Given the description of an element on the screen output the (x, y) to click on. 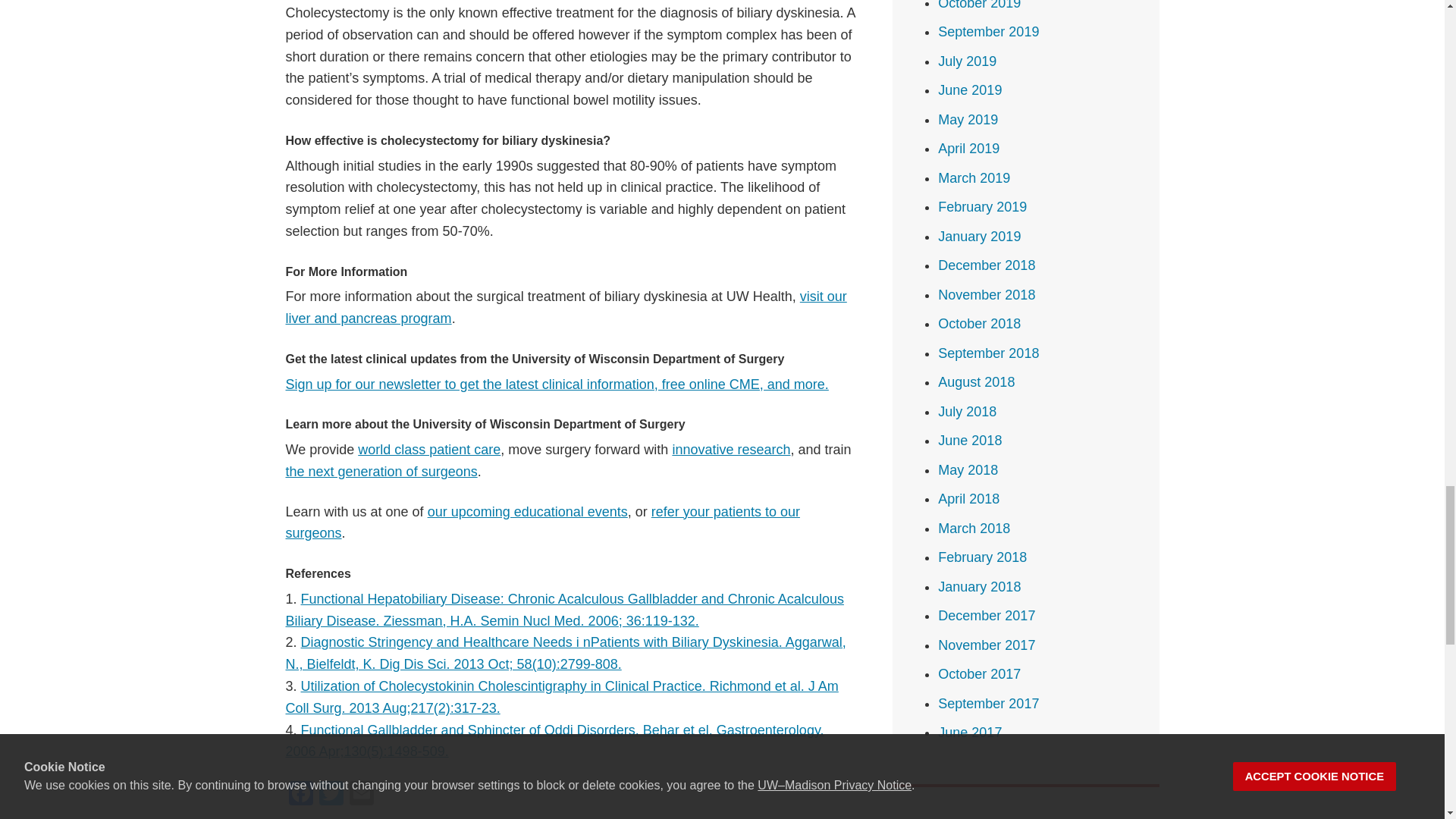
visit our liver and pancreas program (565, 307)
world class patient care (429, 449)
our upcoming educational events (527, 511)
Facebook (300, 795)
refer your patients to our surgeons (542, 522)
Twitter (330, 795)
innovative research (730, 449)
Facebook (300, 795)
Email (360, 795)
the next generation of surgeons (381, 471)
